Given the description of an element on the screen output the (x, y) to click on. 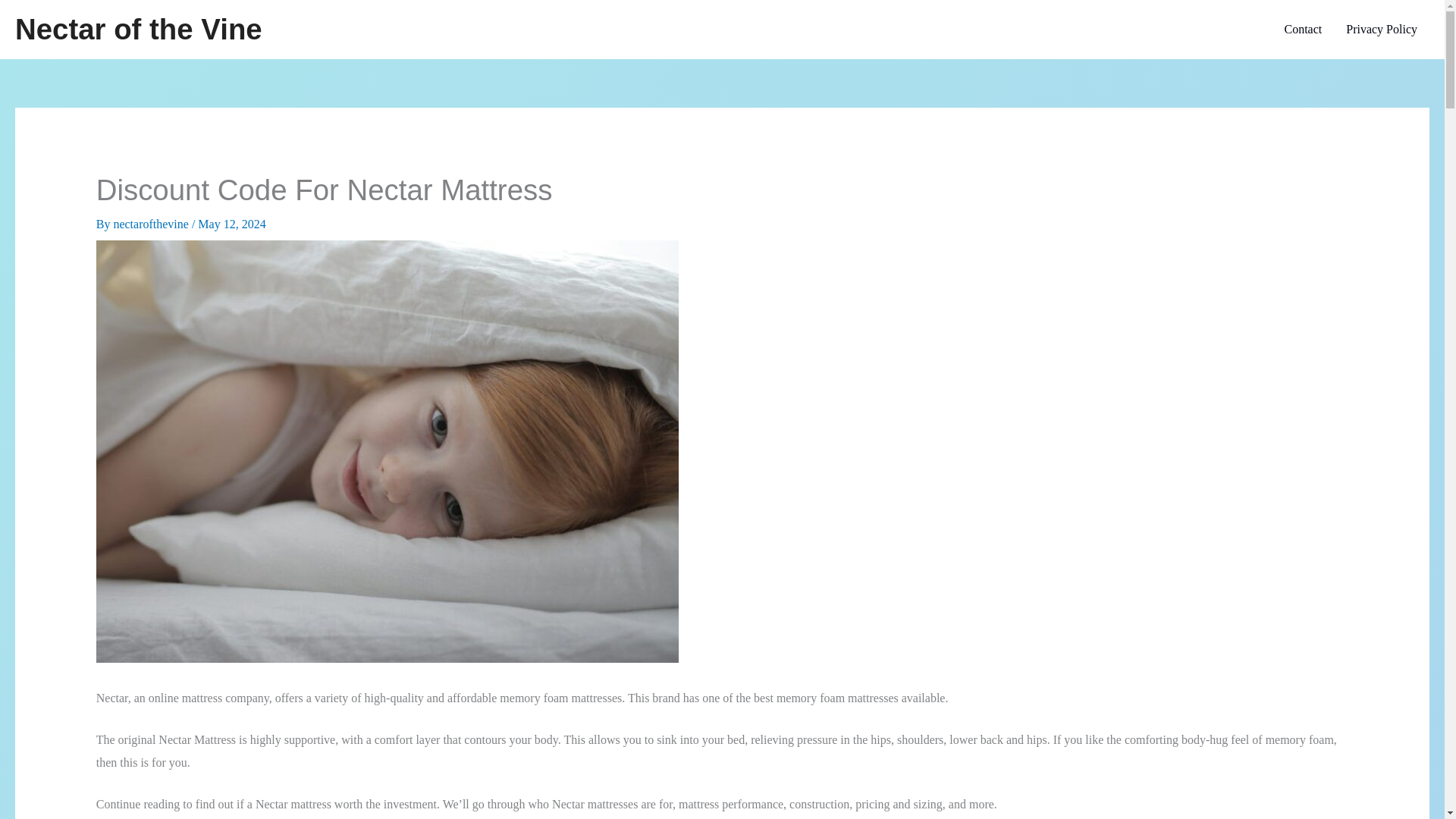
Contact (1302, 29)
Nectar of the Vine (138, 29)
View all posts by nectarofthevine (152, 223)
Privacy Policy (1381, 29)
nectarofthevine (152, 223)
